Given the description of an element on the screen output the (x, y) to click on. 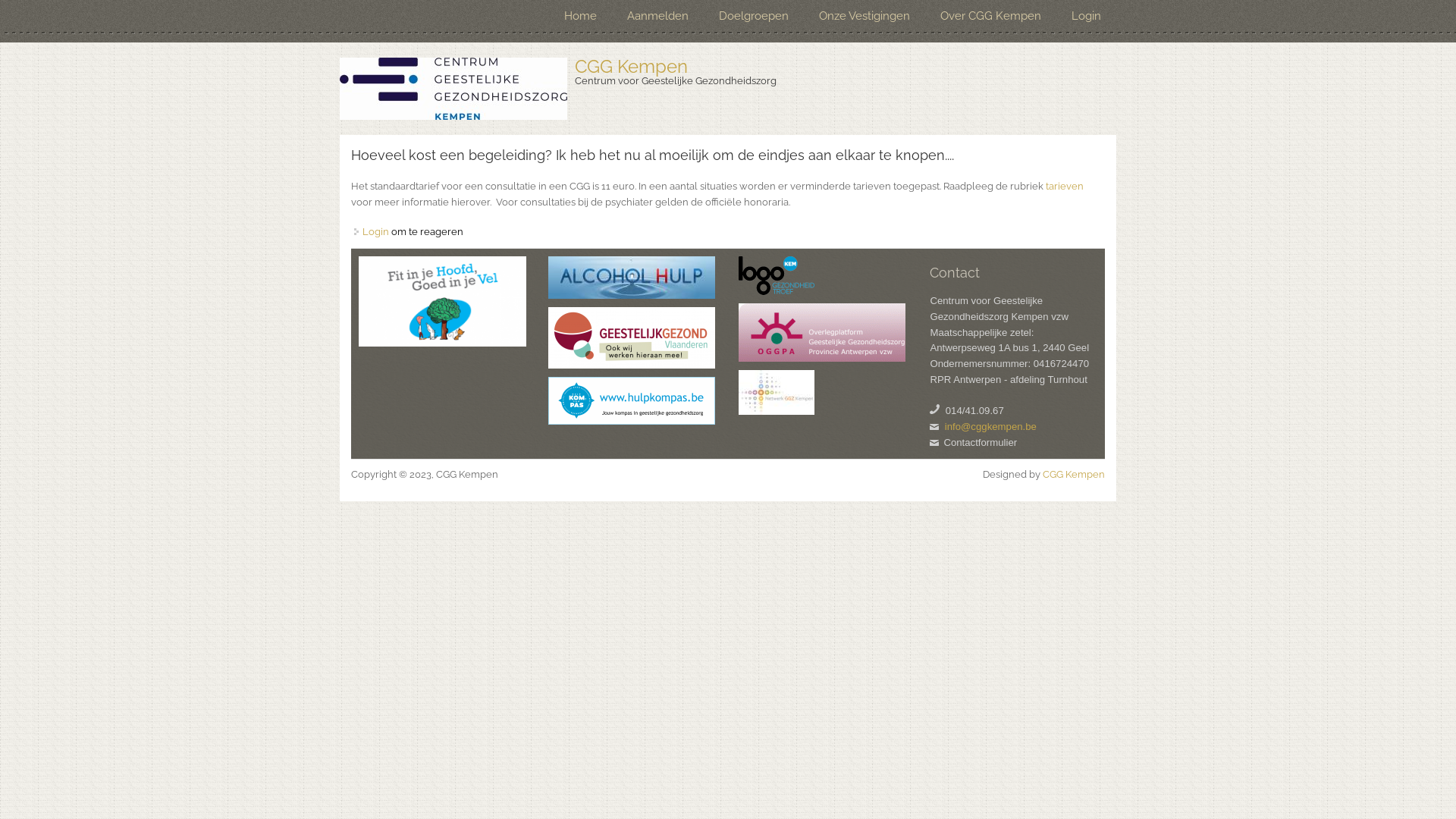
Overslaan en naar de inhoud gaan Element type: text (79, 0)
Onze Vestigingen Element type: text (864, 16)
Aanmelden Element type: text (657, 16)
CGG Kempen Element type: text (630, 66)
www.hulpkompas.be Element type: hover (631, 400)
fitinjehoofd.be Element type: hover (442, 301)
Login Element type: text (375, 231)
tarieven Element type: text (1064, 185)
Contactformulier Element type: text (979, 442)
Doelgroepen Element type: text (753, 16)
Over CGG Kempen Element type: text (990, 16)
www.fdgg.be Element type: hover (631, 337)
info@cggkempen.be Element type: text (990, 426)
Home Element type: text (580, 16)
Home Element type: hover (453, 88)
www.oggpa.be Element type: hover (821, 332)
CGG Kempen Element type: text (1073, 474)
Login Element type: text (1086, 16)
www.ggzkempen.be Element type: hover (776, 392)
www.logokempen.be Element type: hover (776, 275)
